Given the description of an element on the screen output the (x, y) to click on. 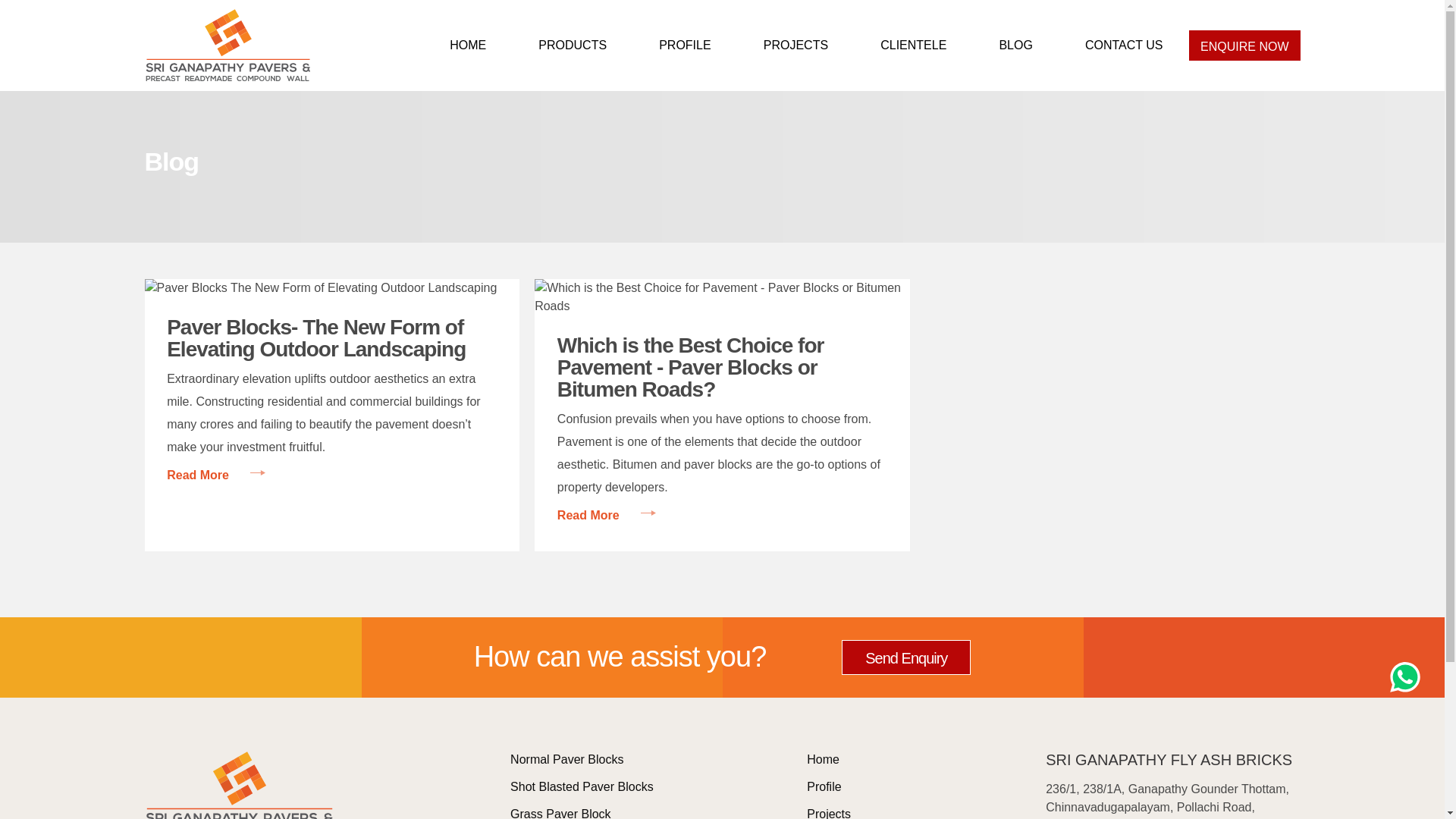
Paver Blocks- The New Form of Elevating Outdoor Landscaping (331, 338)
Send Enquiry (906, 656)
ENQUIRE NOW (1244, 45)
PRODUCTS (572, 45)
CLIENTELE (913, 45)
HOME (467, 45)
PROJECTS (794, 45)
Read More (215, 475)
Read More (606, 515)
PROFILE (685, 45)
BLOG (1015, 45)
CONTACT US (1123, 45)
Normal Paver Blocks (567, 758)
